Given the description of an element on the screen output the (x, y) to click on. 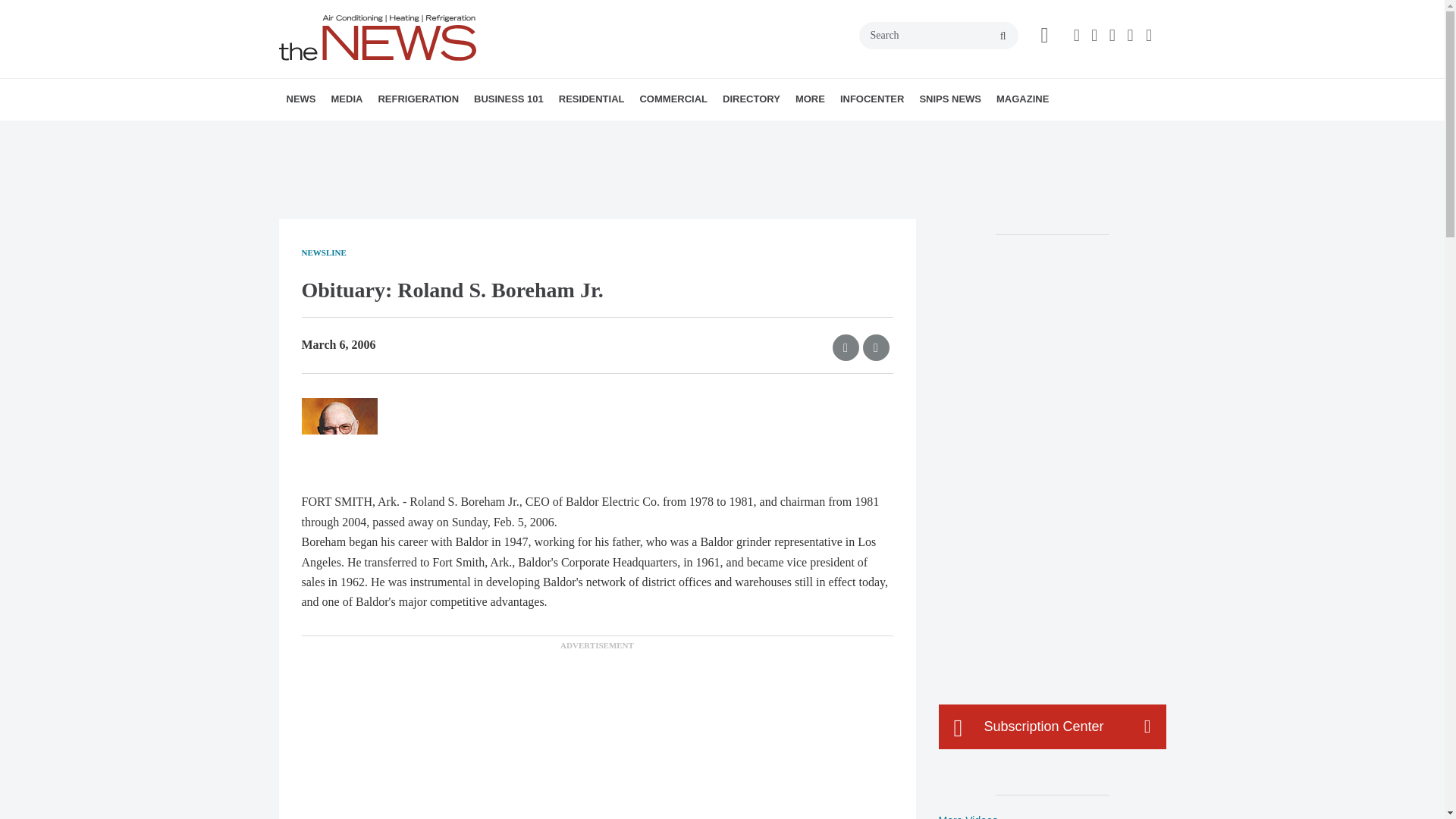
MANUFACTURER REPORTS (386, 132)
BUSINESS 101 (508, 98)
EBOOKS (442, 132)
Search (938, 35)
REFRIGERATION (417, 98)
VIDEOS (417, 132)
BREAKING NEWS (373, 132)
REFRIGERANTS (464, 132)
FROSTLINES (478, 132)
THE NEWS HVACR QUIZ (445, 132)
